Given the description of an element on the screen output the (x, y) to click on. 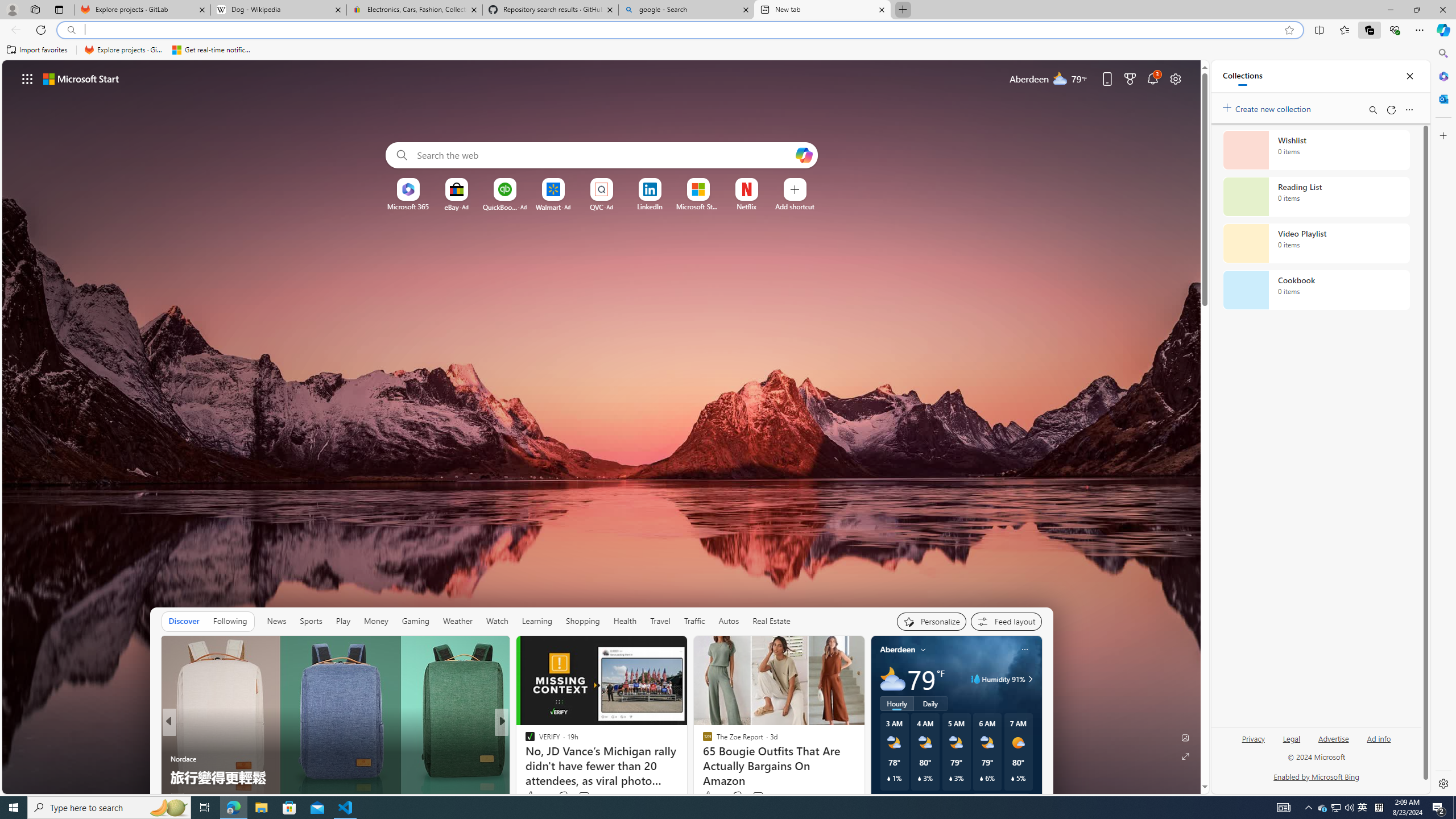
Ad info (1378, 743)
Health (624, 621)
View comments 17 Comment (585, 796)
View comments 1 Comment (575, 796)
AutomationID: backgroundImagePicture (601, 426)
295 Like (532, 796)
Real Estate (771, 621)
Gaming (415, 621)
Weather (457, 621)
Reader's Digest (524, 758)
